Given the description of an element on the screen output the (x, y) to click on. 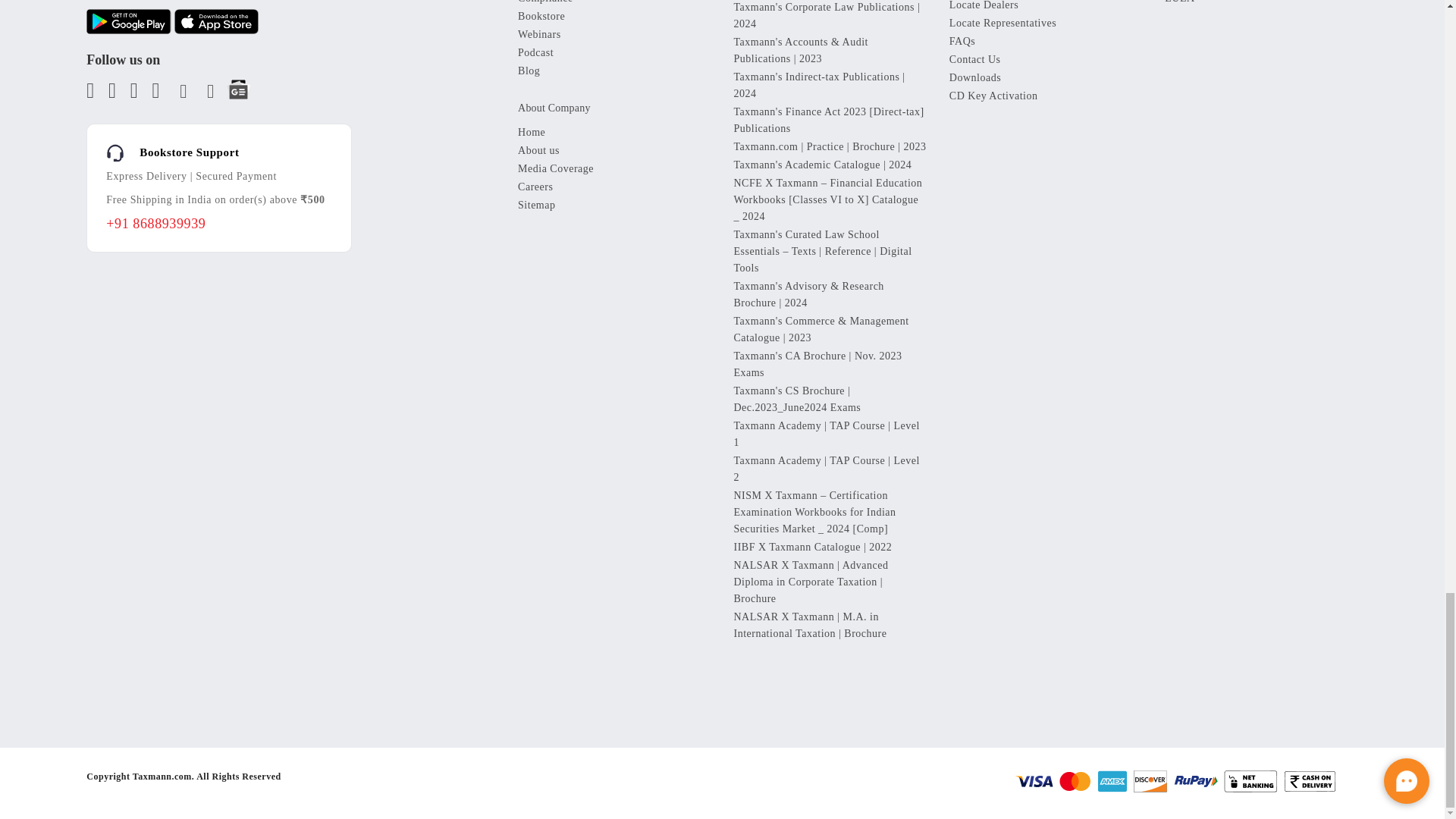
Instagram (179, 93)
Telegram (207, 93)
